Given the description of an element on the screen output the (x, y) to click on. 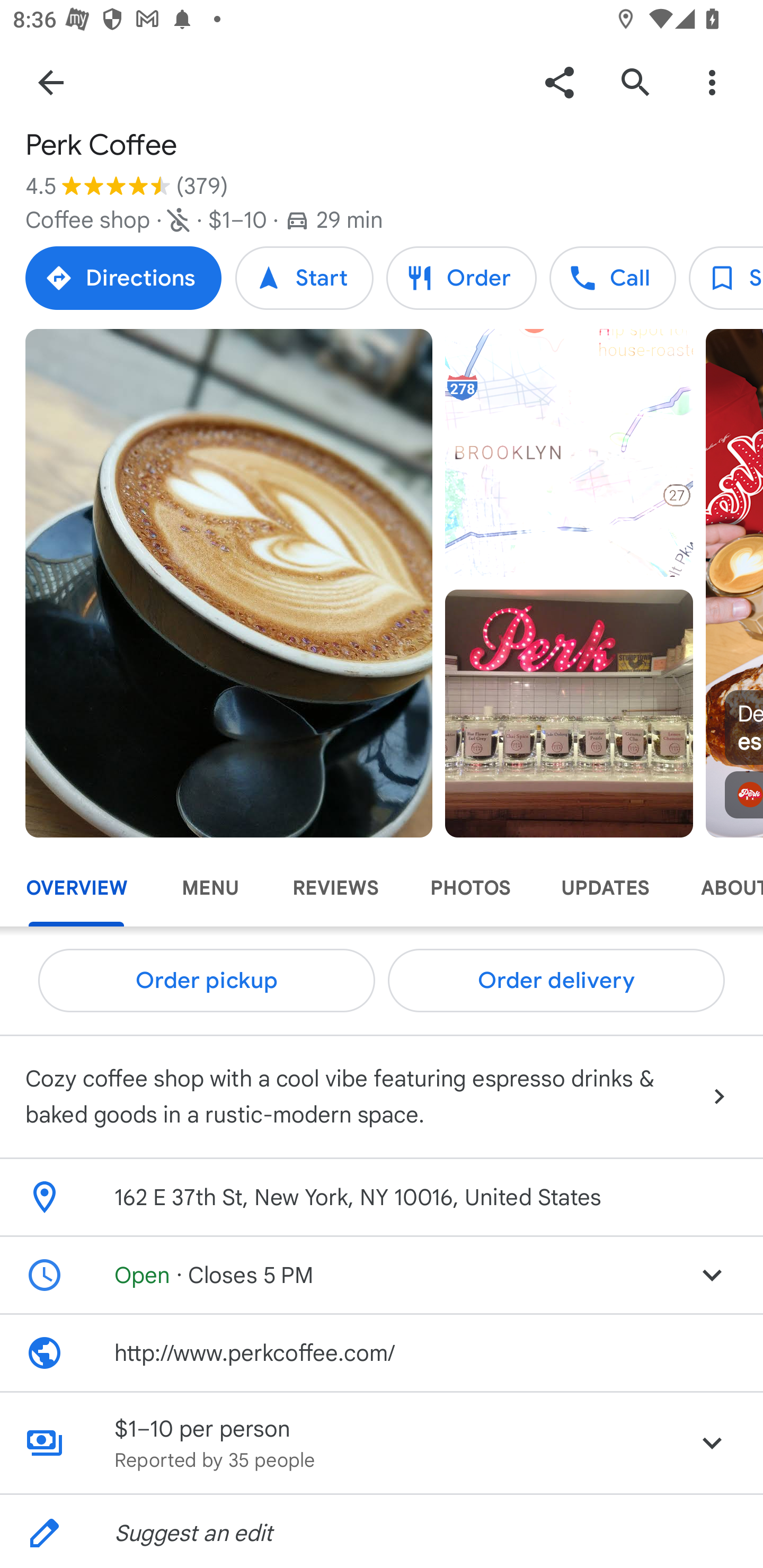
Back to Search (50, 81)
Share (559, 81)
Search (635, 81)
More options for Perk Coffee (711, 81)
Start Start Start (304, 277)
Order online Order Order online (461, 277)
Photo (228, 583)
Video (568, 453)
Photo (568, 713)
View Street view imagery for Perk Coffee (93, 881)
MENU Menu (209, 887)
REVIEWS Reviews (335, 887)
PHOTOS Photos (469, 887)
UPDATES Updates (605, 887)
ABOUT About (719, 887)
Open ⋅ Closes 5 PM Open Hours: Open ⋅ Closes 5 PM (381, 1275)
Suggest an edit (381, 1531)
